Given the description of an element on the screen output the (x, y) to click on. 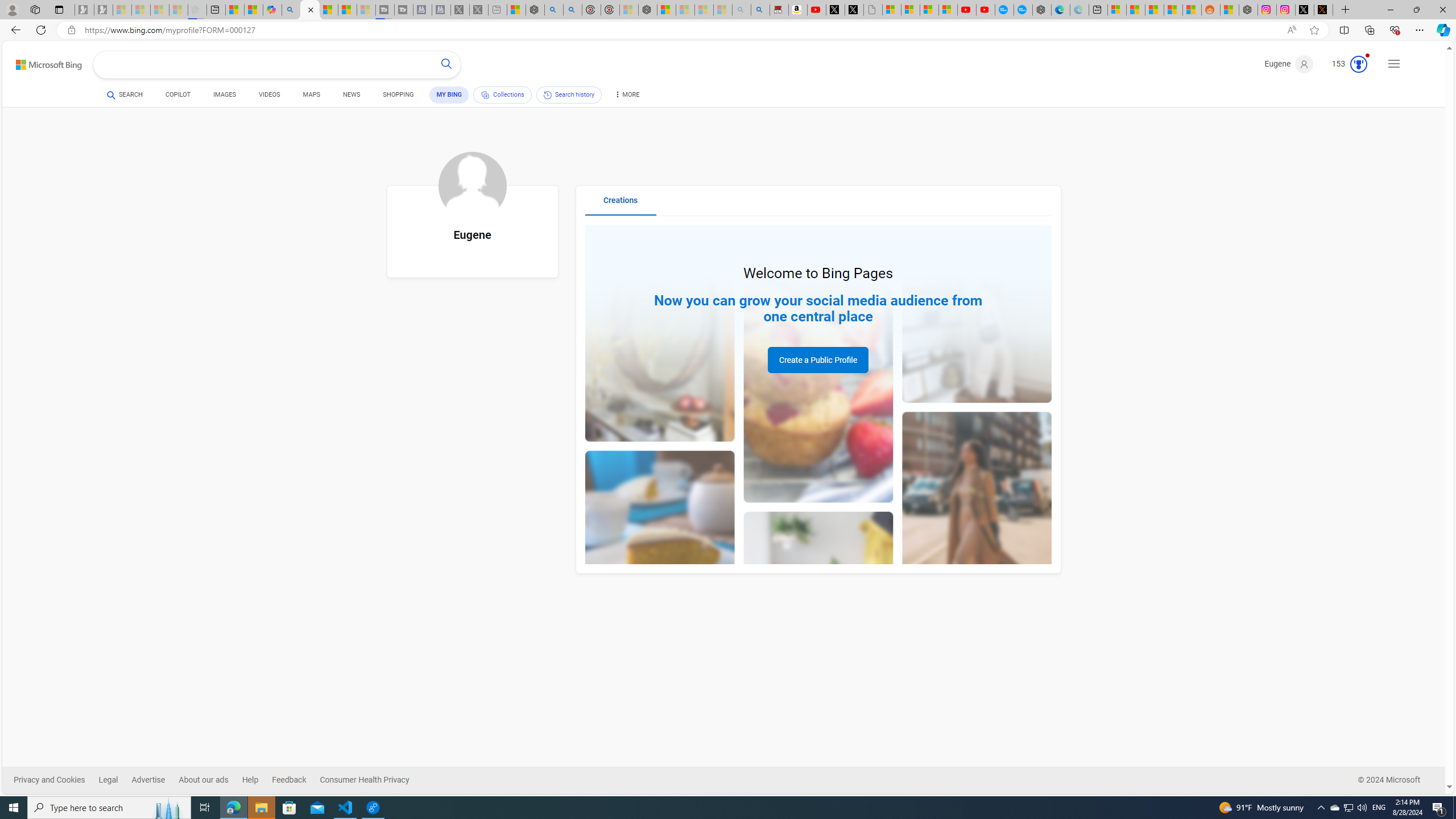
COPILOT (178, 94)
To get missing image descriptions, open the context menu. (472, 185)
Nordace - Nordace has arrived Hong Kong (1041, 9)
MY BING (448, 94)
Untitled (872, 9)
Consumer Health Privacy (371, 780)
MY BING (448, 94)
